Given the description of an element on the screen output the (x, y) to click on. 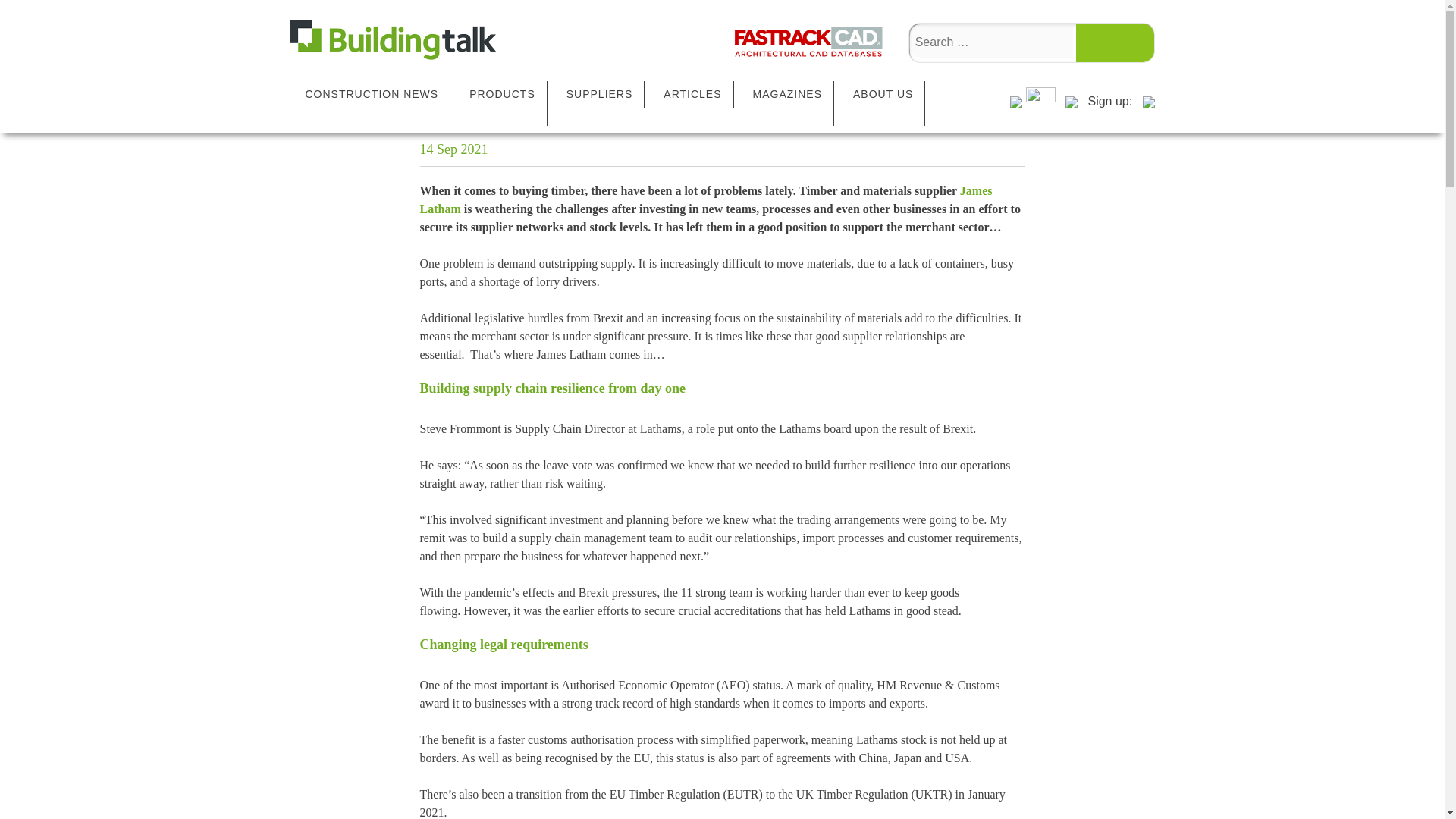
Search (1114, 42)
ARTICLES (691, 94)
Search (1114, 42)
CONSTRUCTION NEWS (371, 94)
Articles (509, 38)
MAGAZINES (787, 94)
ABOUT US (882, 94)
Articles (447, 38)
Search (1114, 42)
SUPPLIERS (599, 94)
PRODUCTS (501, 94)
